Given the description of an element on the screen output the (x, y) to click on. 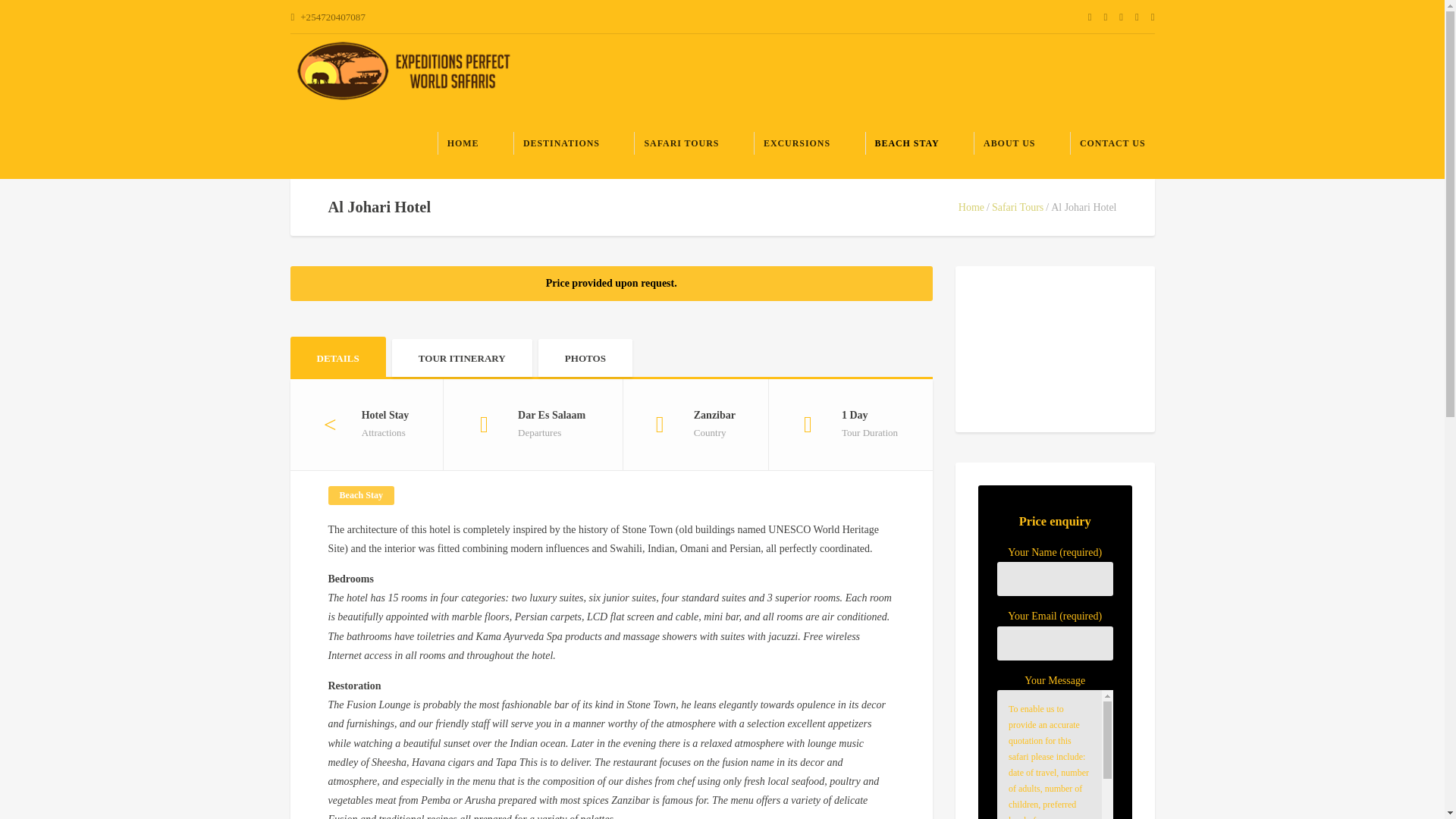
ABOUT US (1008, 142)
PHOTOS (584, 357)
BEACH STAY (905, 142)
HOME (462, 142)
Home (971, 206)
SAFARI TOURS (680, 142)
CONTACT US (1112, 142)
EXCURSIONS (797, 142)
DETAILS (337, 356)
DESTINATIONS (560, 142)
